Given the description of an element on the screen output the (x, y) to click on. 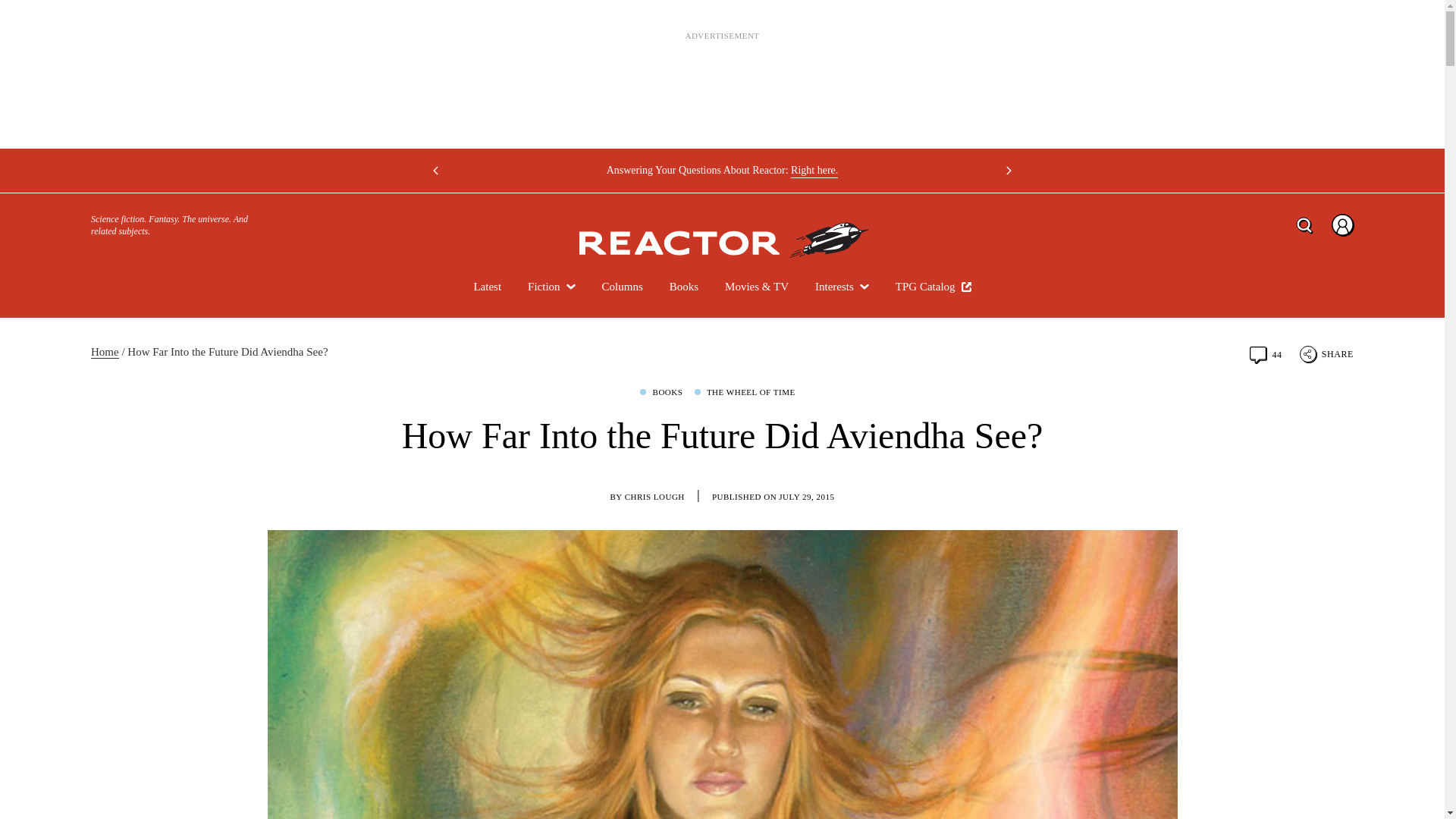
Interests (842, 286)
Latest (486, 287)
Books (683, 287)
Right here. (814, 170)
Posts by Chris Lough (654, 496)
3rd party ad content (721, 83)
Fiction (551, 286)
Columns (622, 287)
